Given the description of an element on the screen output the (x, y) to click on. 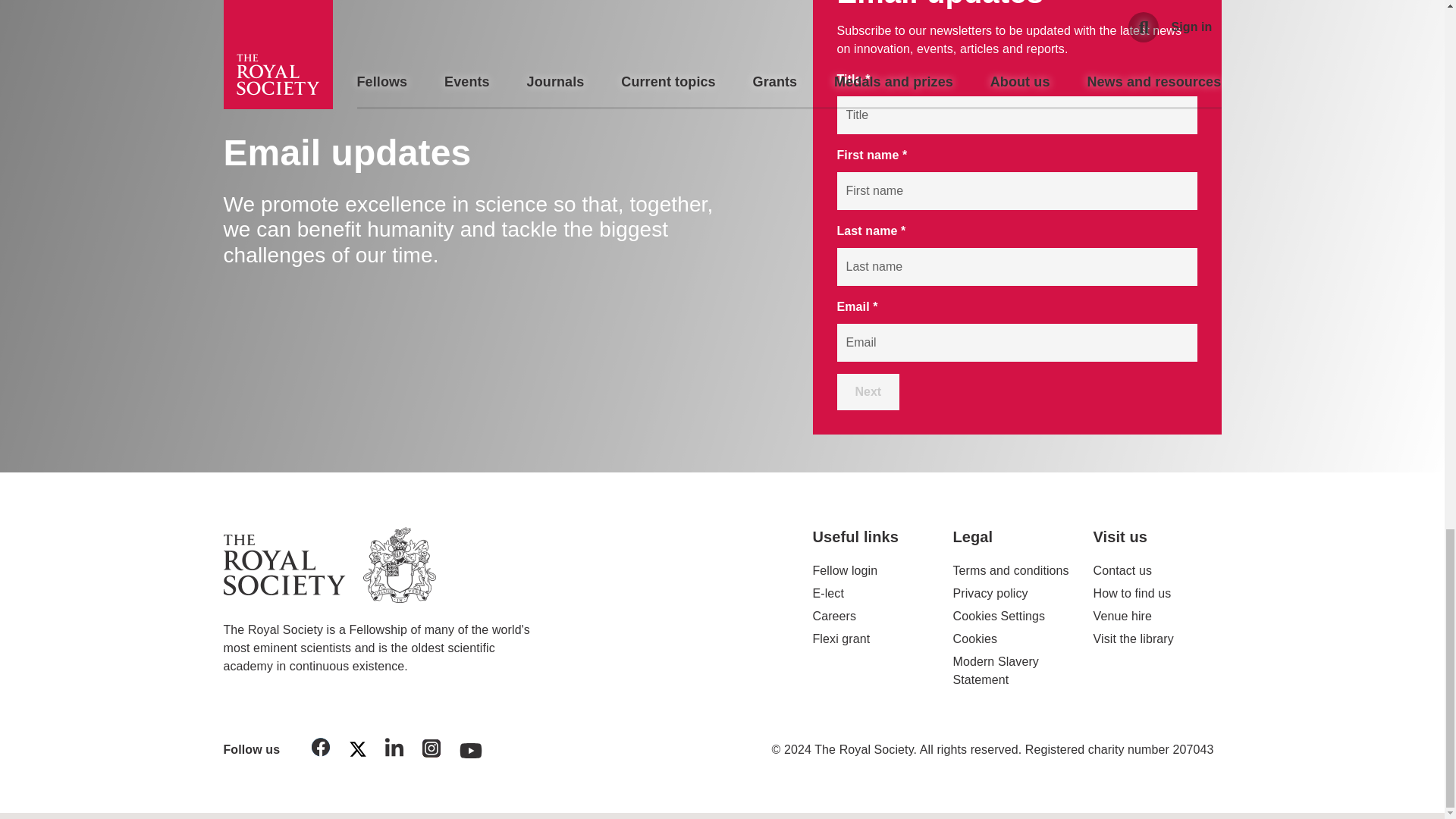
YouTube (470, 746)
Facebook (320, 750)
LinkedIn (393, 750)
Twitter (357, 752)
Instagram (431, 751)
